Given the description of an element on the screen output the (x, y) to click on. 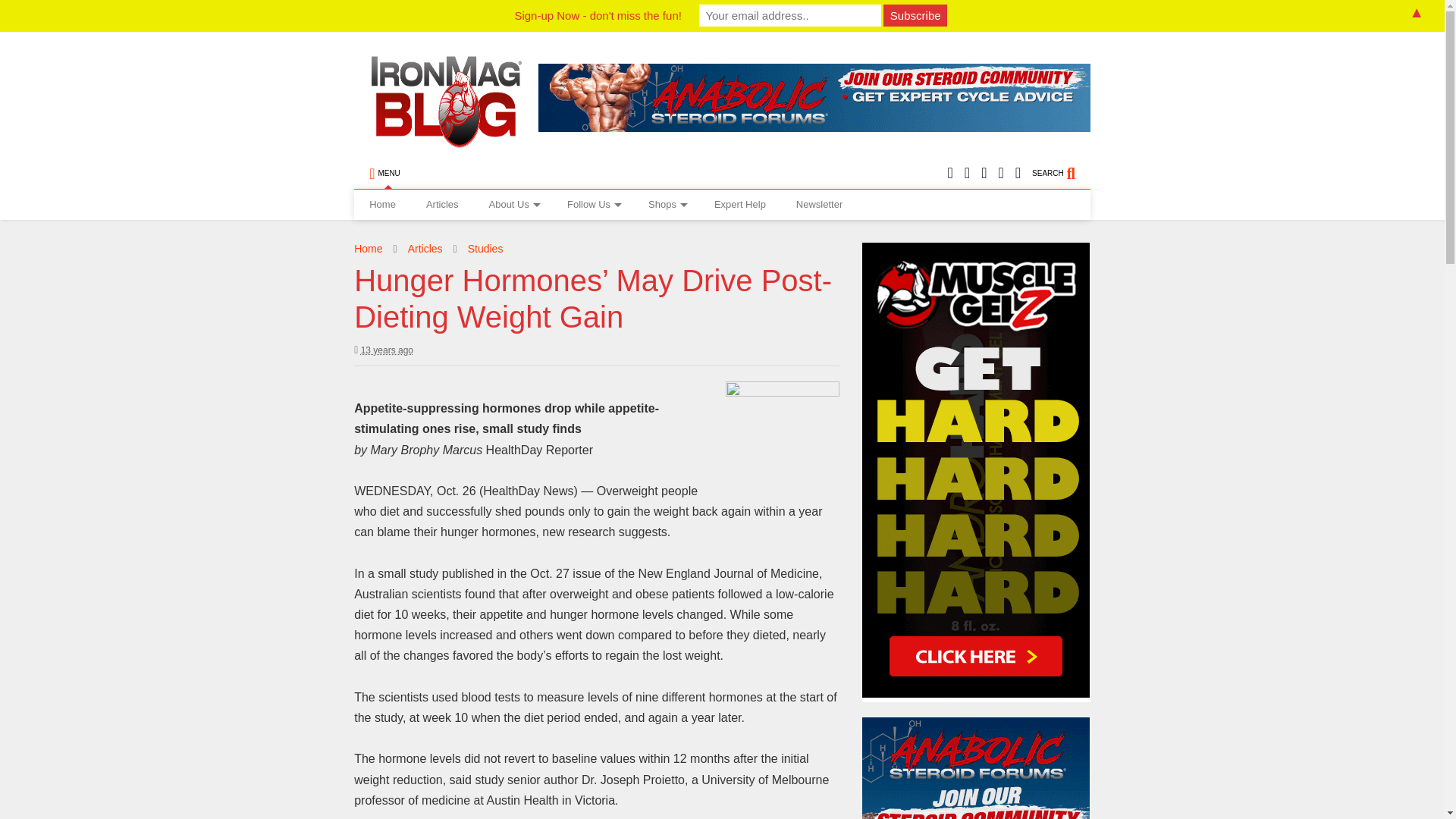
MENU (383, 173)
About Us (512, 204)
Newsletter (818, 204)
About Us (512, 204)
SEARCH (1061, 173)
Anabolic Steroids (814, 97)
All Articles (442, 204)
Articles (442, 204)
Subscribe (915, 15)
Online Shops (665, 204)
